Given the description of an element on the screen output the (x, y) to click on. 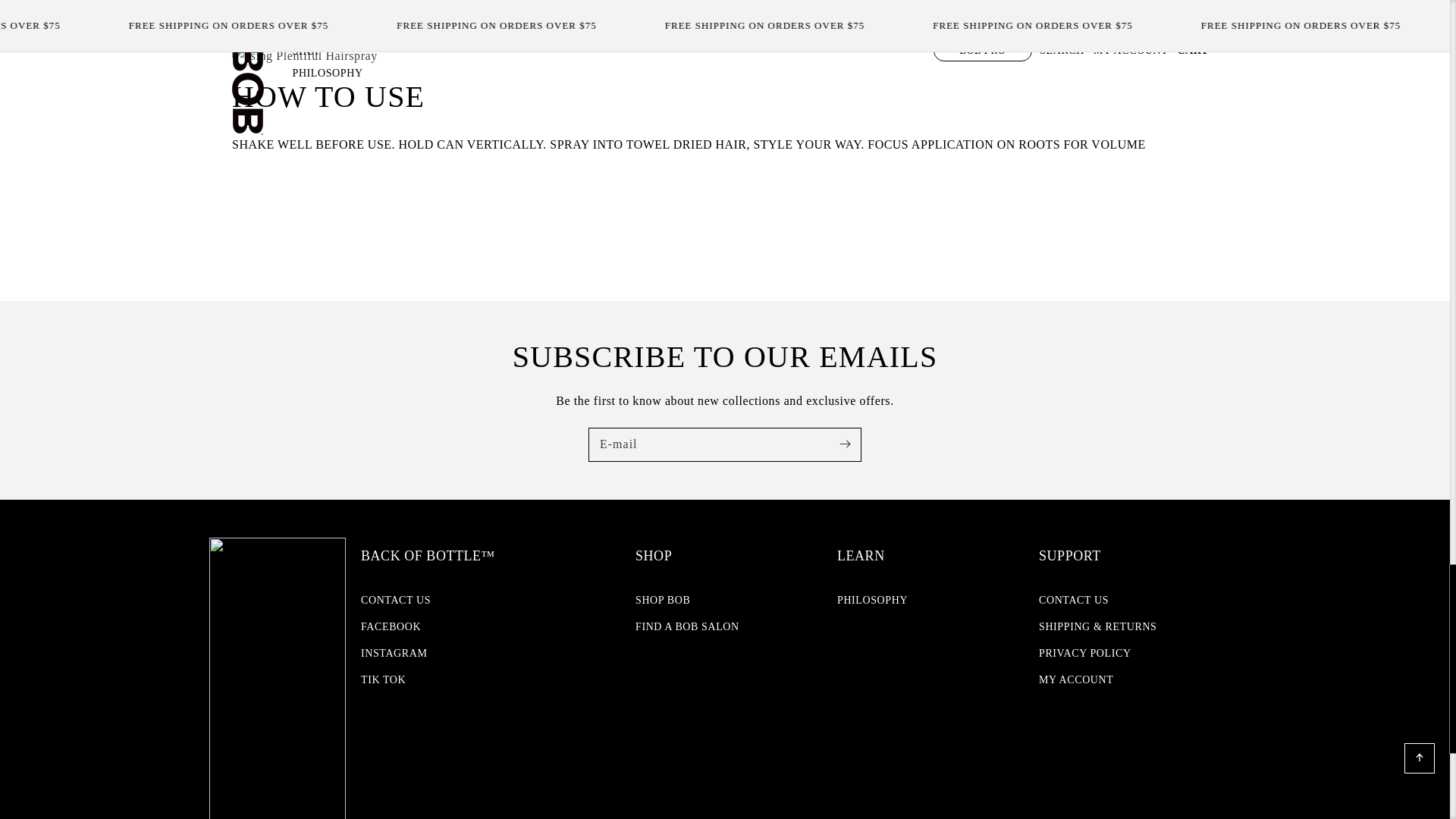
INSTAGRAM (394, 652)
FACEBOOK (390, 626)
CONTACT US (395, 601)
